Given the description of an element on the screen output the (x, y) to click on. 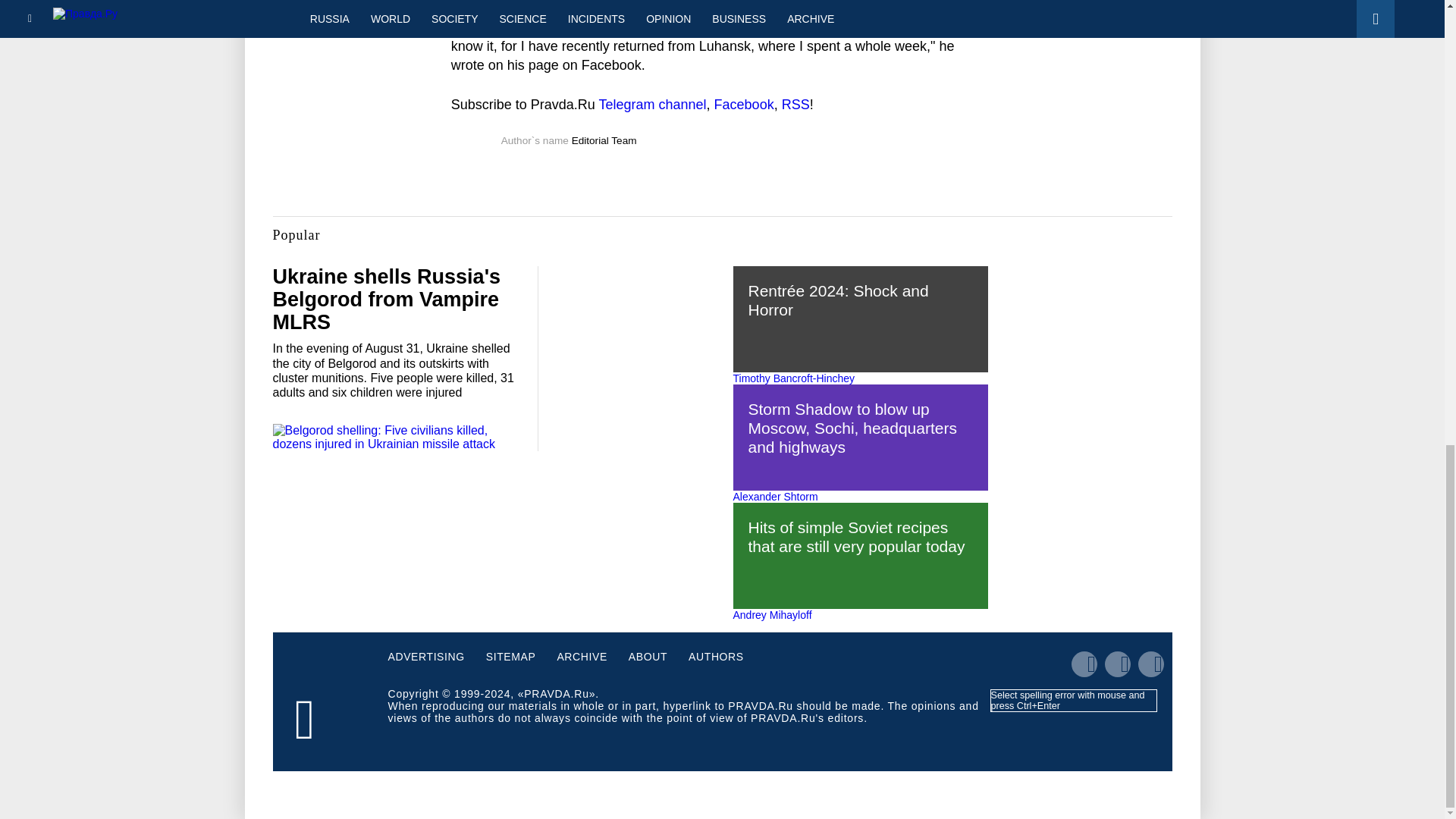
Facebook (744, 104)
Telegram channel (652, 104)
RSS (795, 104)
Editorial Team (604, 140)
Ukraine shells Russia's Belgorod from Vampire MLRS (386, 298)
